Given the description of an element on the screen output the (x, y) to click on. 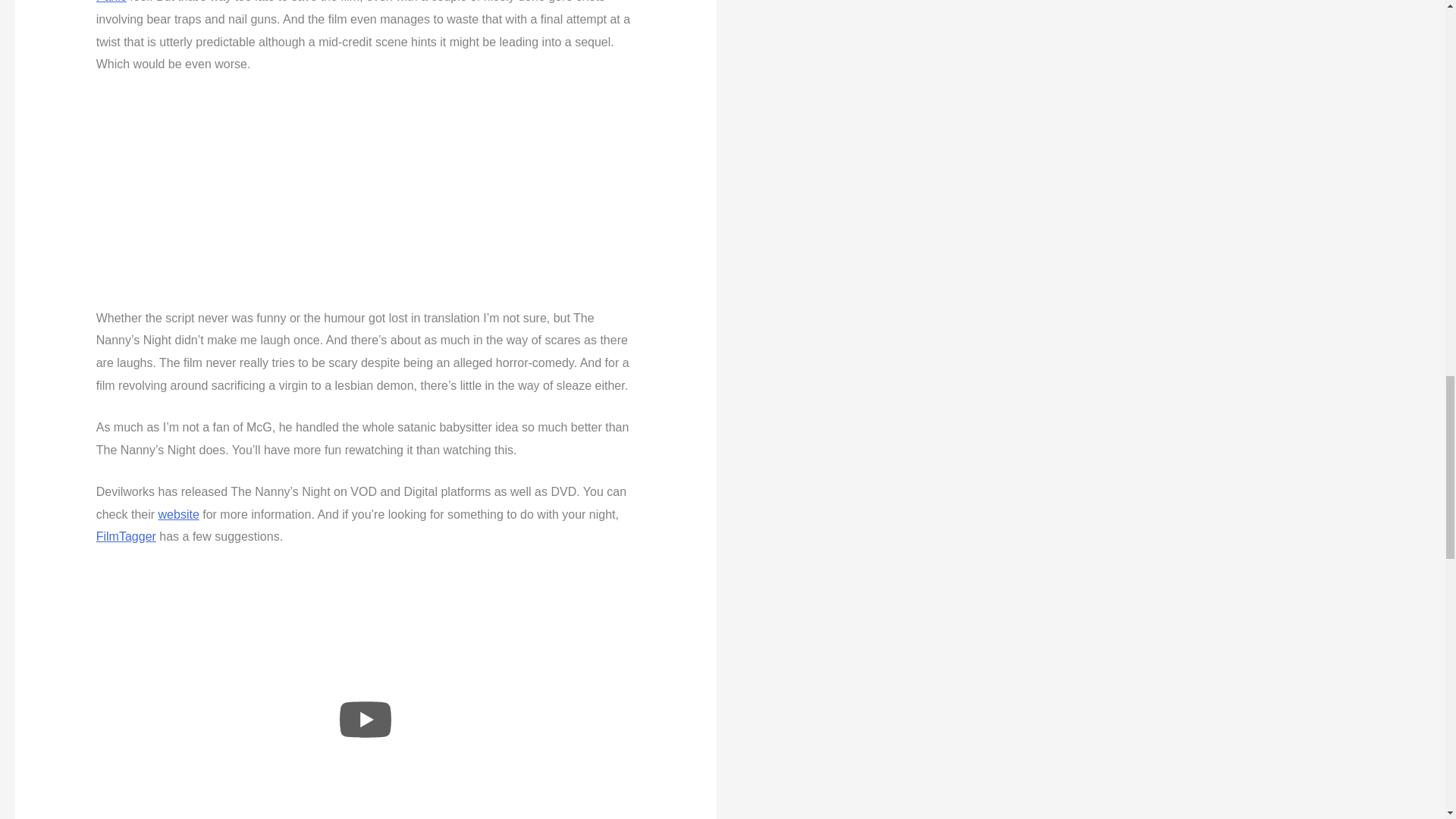
FilmTagger (125, 535)
website (178, 513)
